Given the description of an element on the screen output the (x, y) to click on. 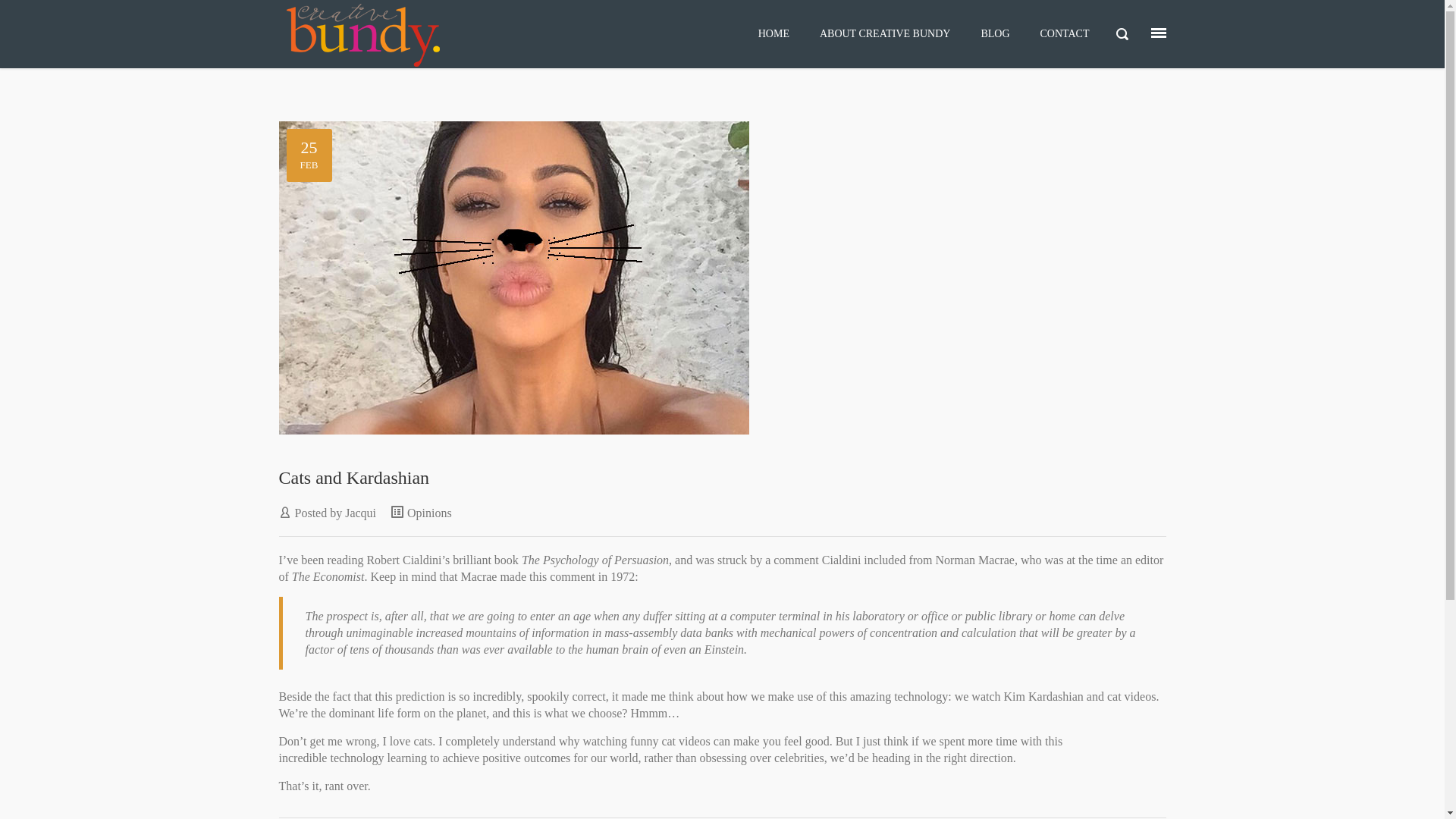
Toggle sidebar Element type: hover (1158, 32)
Search Element type: text (51, 22)
CONTACT Element type: text (1064, 33)
Opinions Element type: text (429, 512)
Jacqui Element type: text (360, 512)
BLOG Element type: text (994, 33)
HOME Element type: text (773, 33)
25
FEB Element type: text (722, 277)
Creative Bundy Element type: hover (425, 34)
ABOUT CREATIVE BUNDY Element type: text (884, 33)
